Given the description of an element on the screen output the (x, y) to click on. 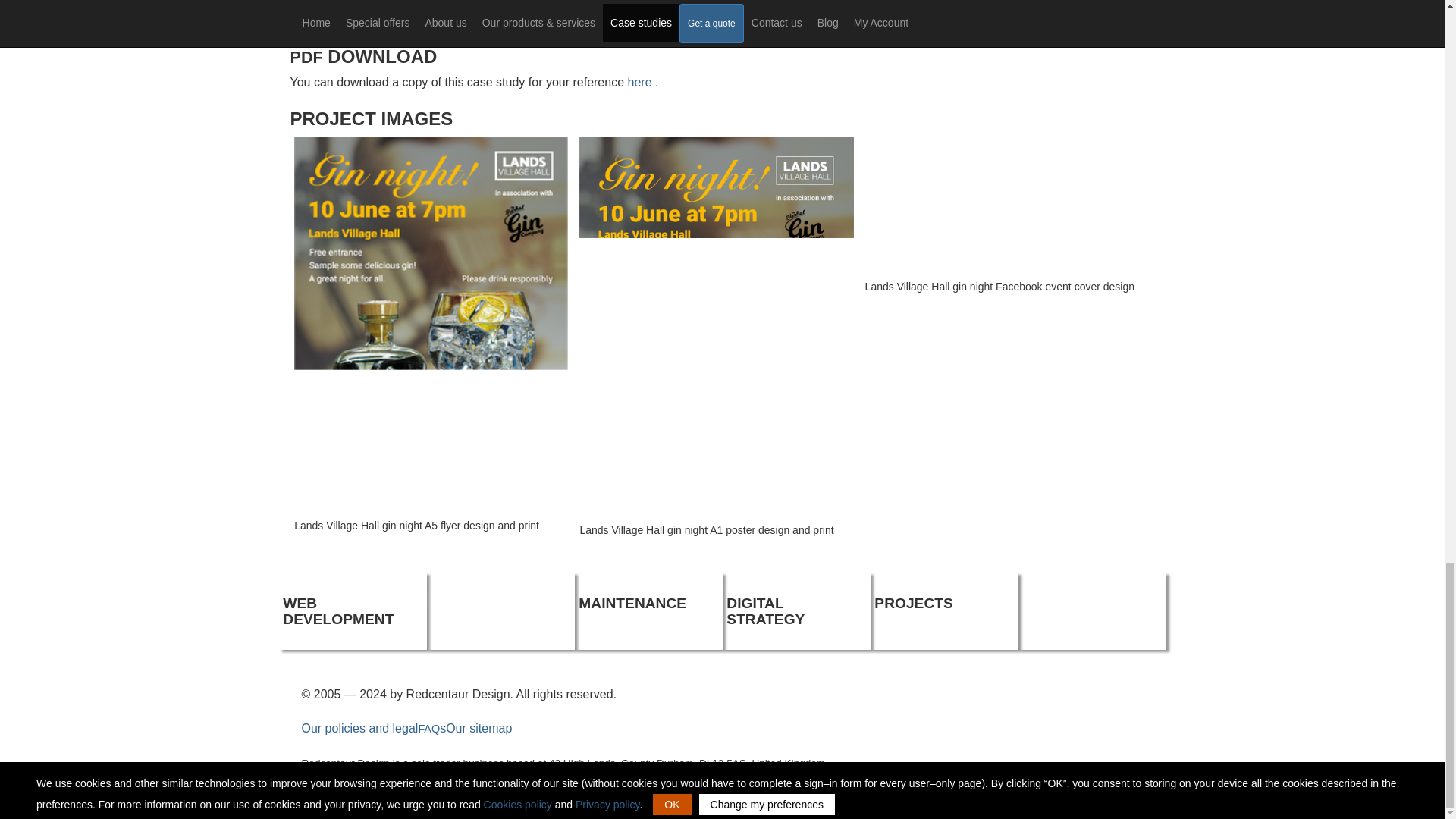
WEB DESIGN (477, 602)
Maintenance (631, 602)
PROJECTS (913, 602)
Digital strategy (765, 611)
WEB DEVELOPMENT (337, 611)
Projects (913, 602)
View this image in a new tab (716, 328)
Our policies (360, 727)
View this image in a new tab (1001, 206)
FAQs (431, 727)
